Given the description of an element on the screen output the (x, y) to click on. 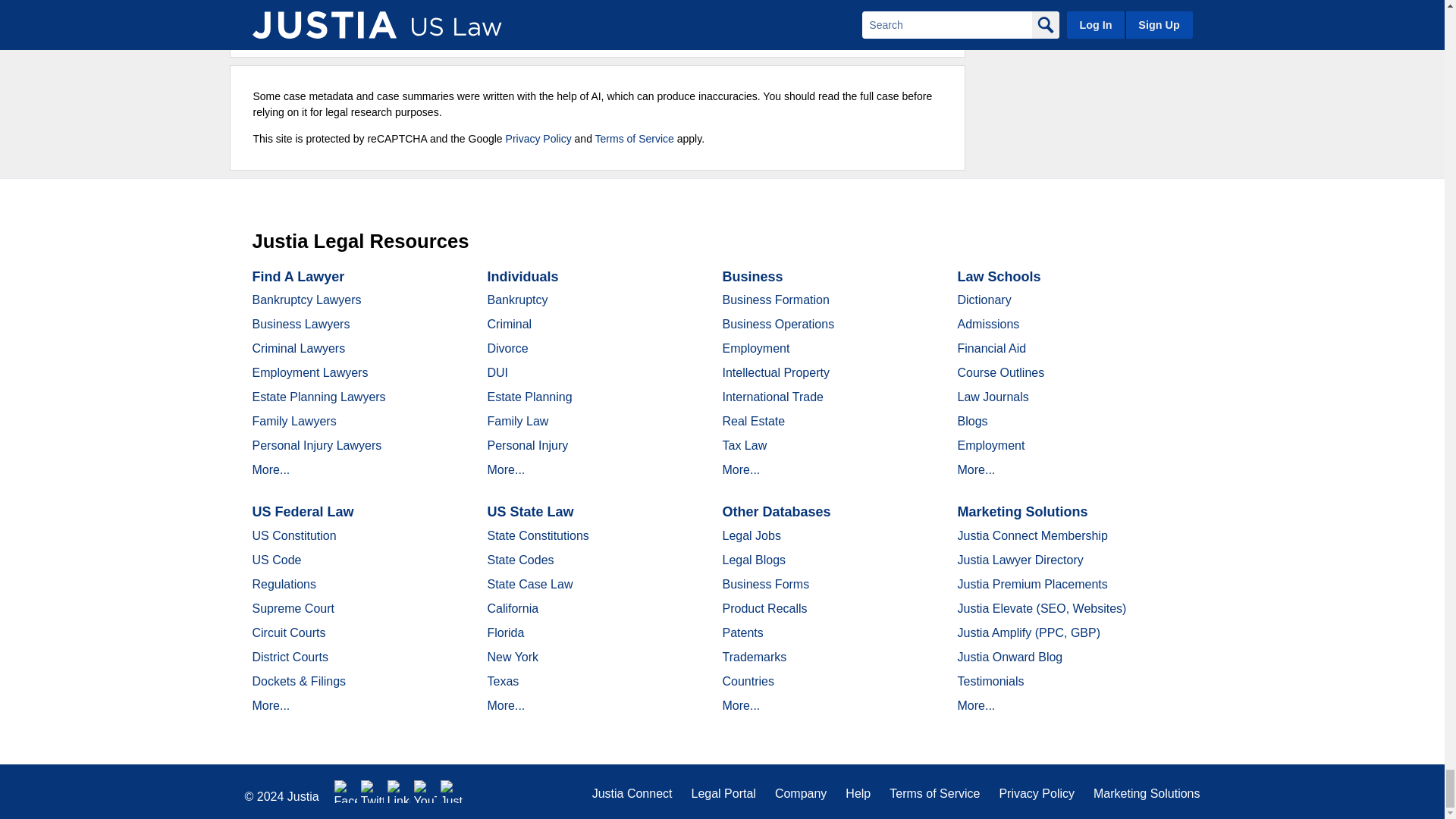
Twitter (372, 791)
LinkedIn (398, 791)
Facebook (345, 791)
